Given the description of an element on the screen output the (x, y) to click on. 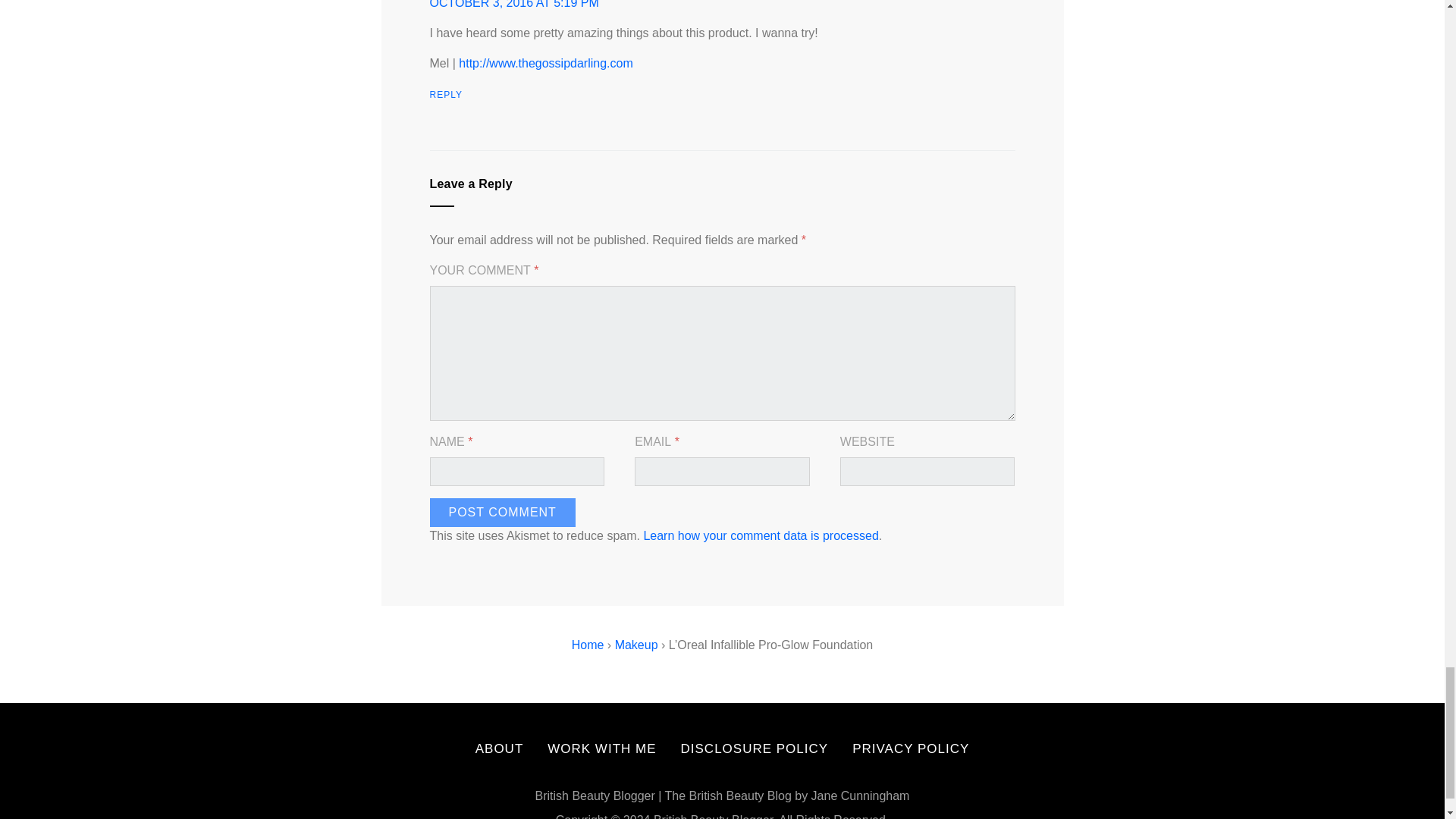
Post Comment (502, 512)
